Given the description of an element on the screen output the (x, y) to click on. 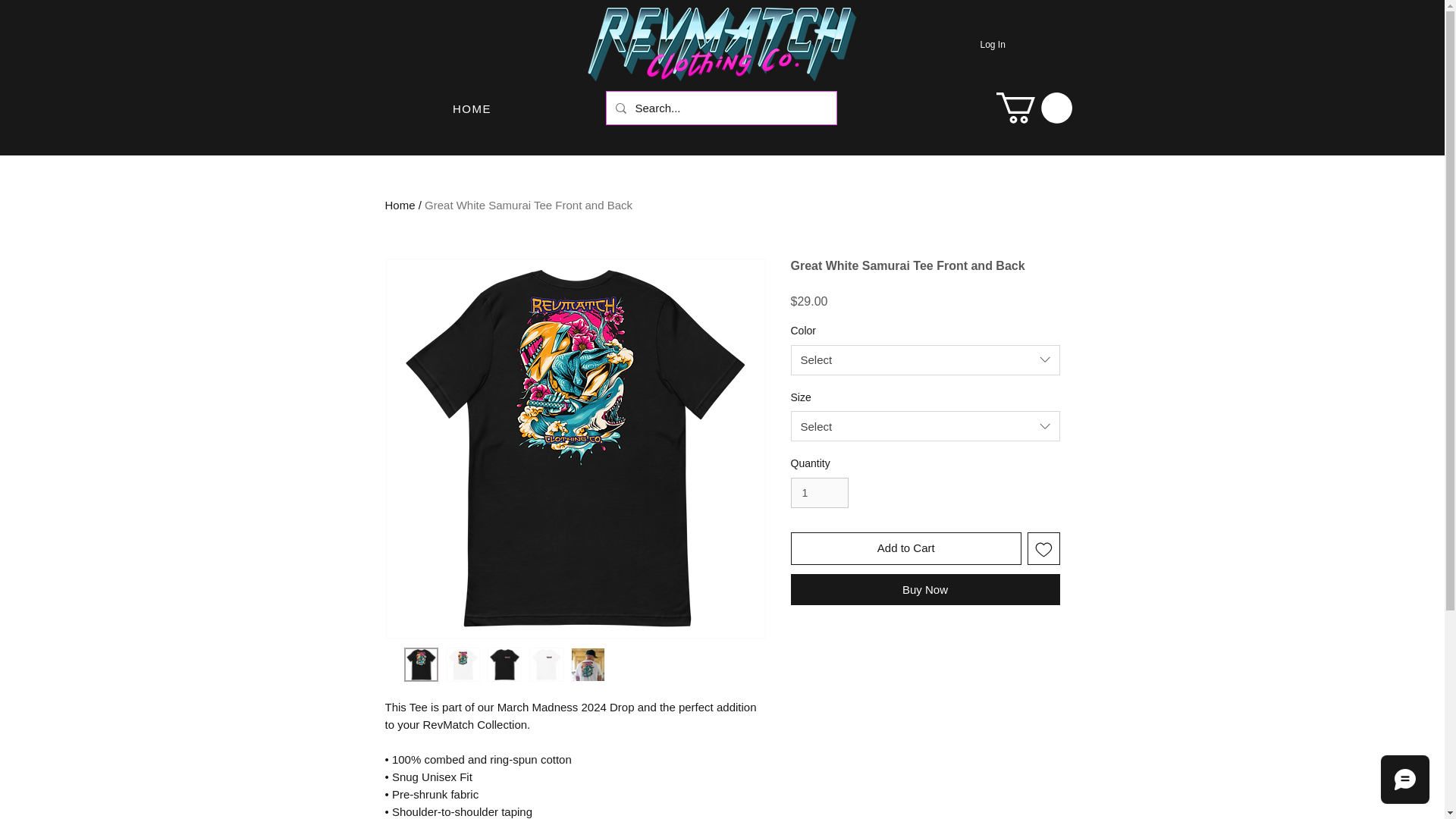
Buy Now (924, 589)
0 (1033, 107)
Select (924, 359)
HOME (473, 108)
Select (924, 426)
Log In (978, 44)
Home (399, 205)
1 (818, 492)
Great White Samurai Tee Front and Back (528, 205)
0 (1033, 107)
Add to Cart (906, 548)
